Given the description of an element on the screen output the (x, y) to click on. 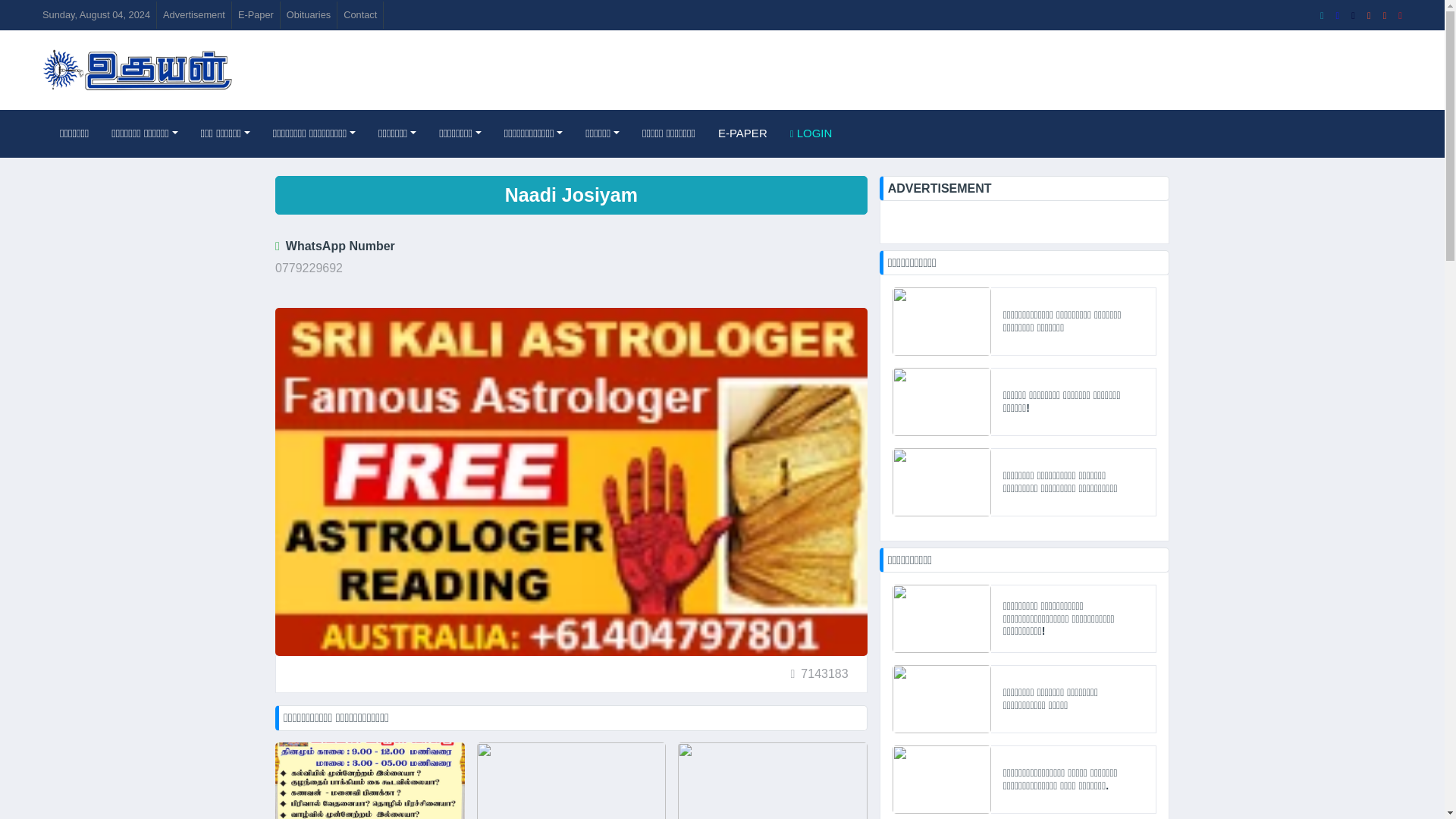
Sunday, August 04, 2024 (95, 14)
Advertisement (194, 14)
Contact (359, 14)
Obituaries (308, 14)
E-Paper (255, 14)
